Given the description of an element on the screen output the (x, y) to click on. 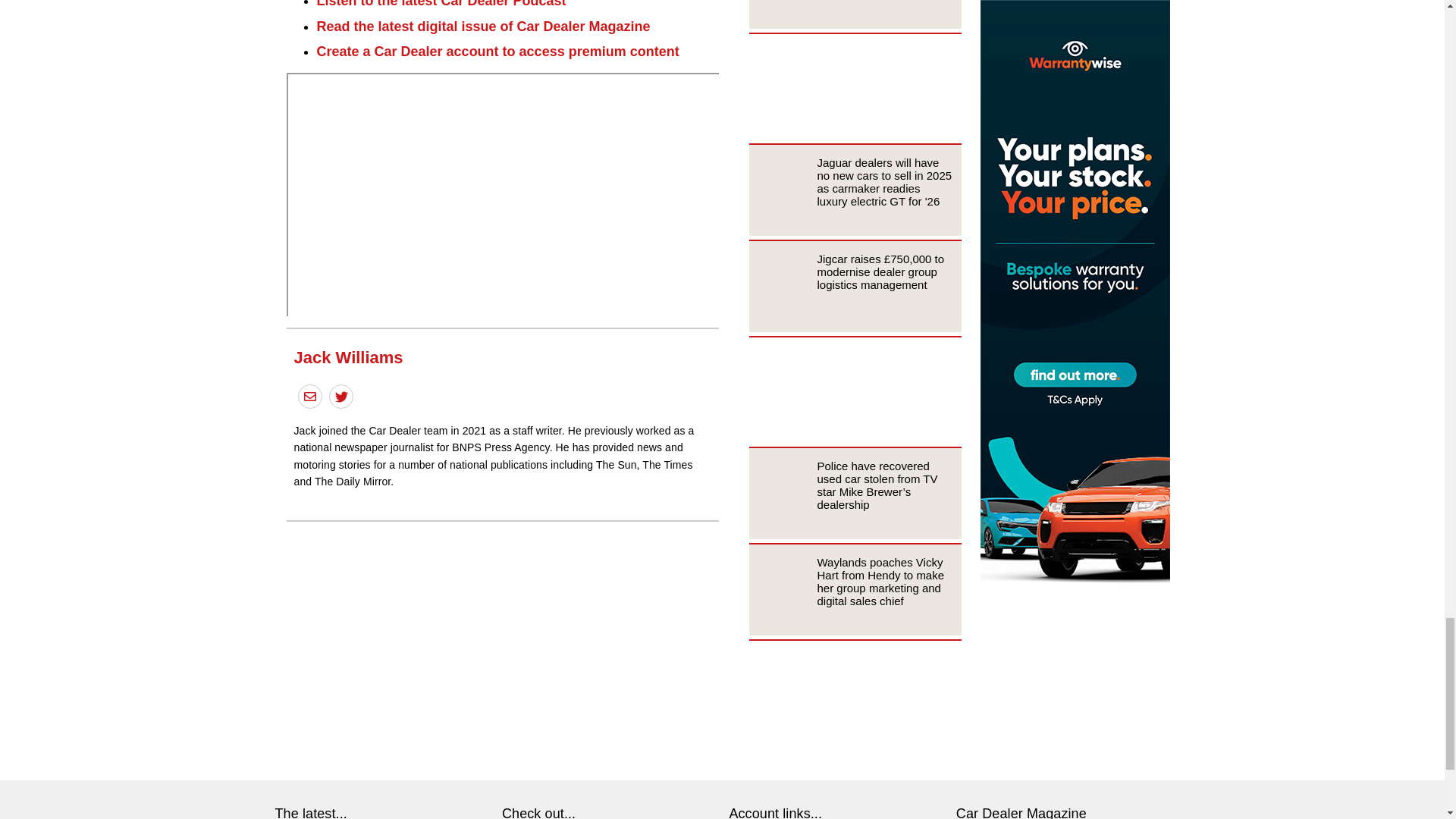
Create a Car Dealer account to access premium content (498, 51)
Listen to the latest Car Dealer Podcast (441, 4)
Read the latest digital issue of Car Dealer Magazine (483, 26)
Posts by Jack Williams (348, 357)
Jack Williams (348, 357)
